Given the description of an element on the screen output the (x, y) to click on. 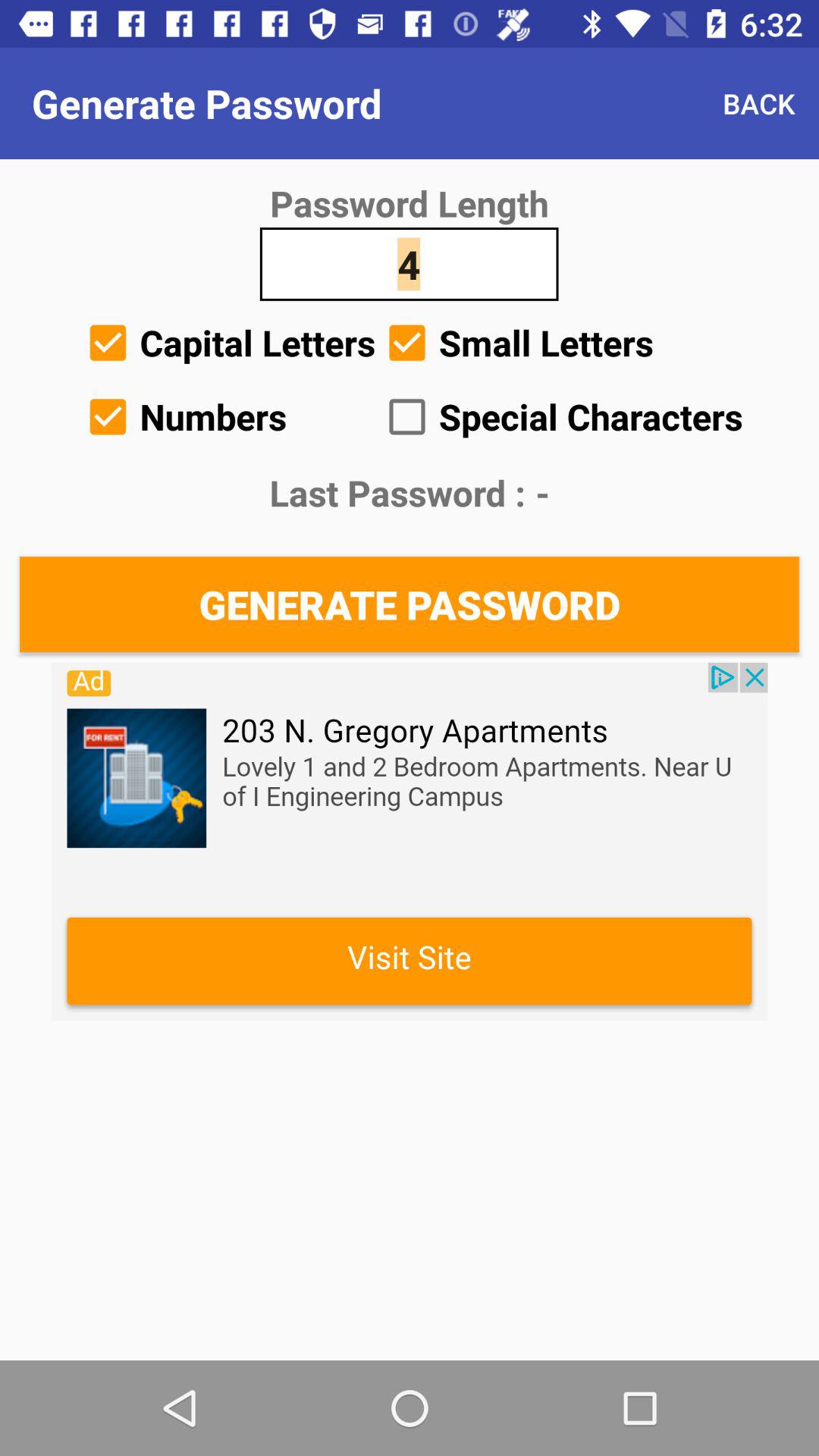
open particular website (409, 841)
